Given the description of an element on the screen output the (x, y) to click on. 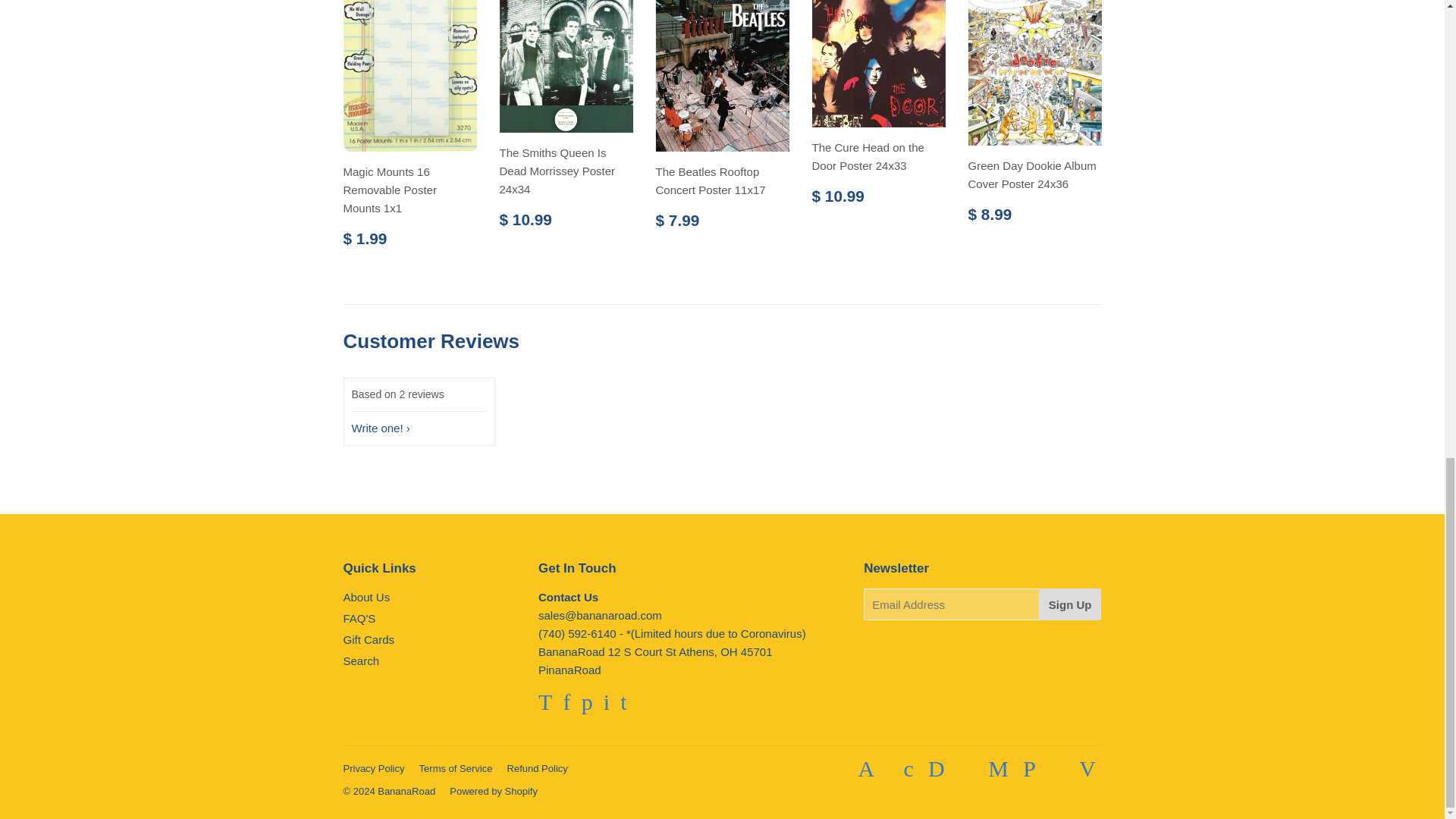
BananaRoad on Twitter (544, 705)
Sign Up (1070, 603)
